Given the description of an element on the screen output the (x, y) to click on. 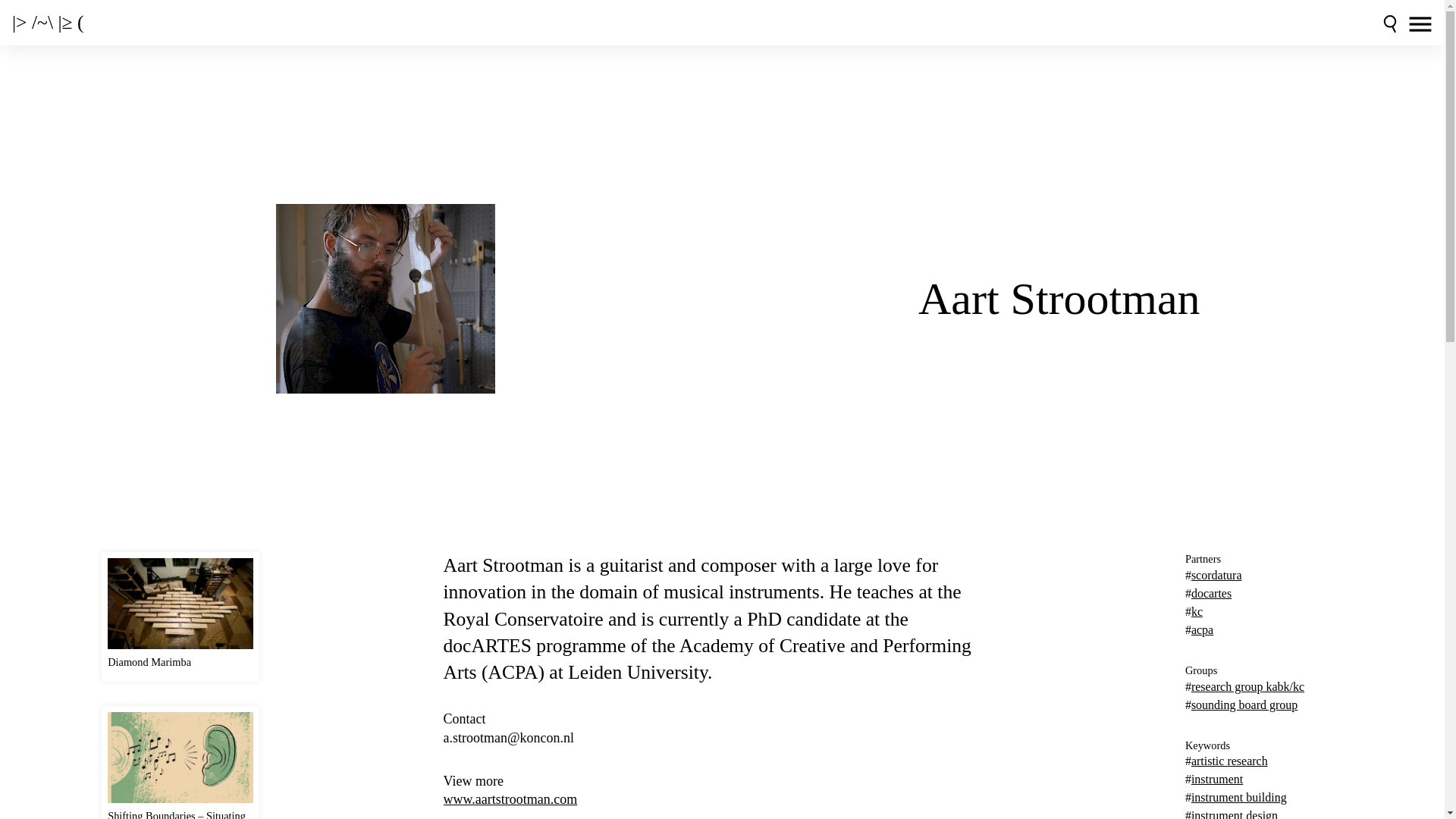
Diamond Marimba (180, 616)
artistic research (1229, 760)
instrument design (1234, 814)
instrument (1217, 779)
www.aartstrootman.com (721, 799)
sounding board group (1244, 704)
acpa (1201, 629)
instrument building (1239, 797)
docartes (1211, 593)
scordatura (1216, 574)
